Given the description of an element on the screen output the (x, y) to click on. 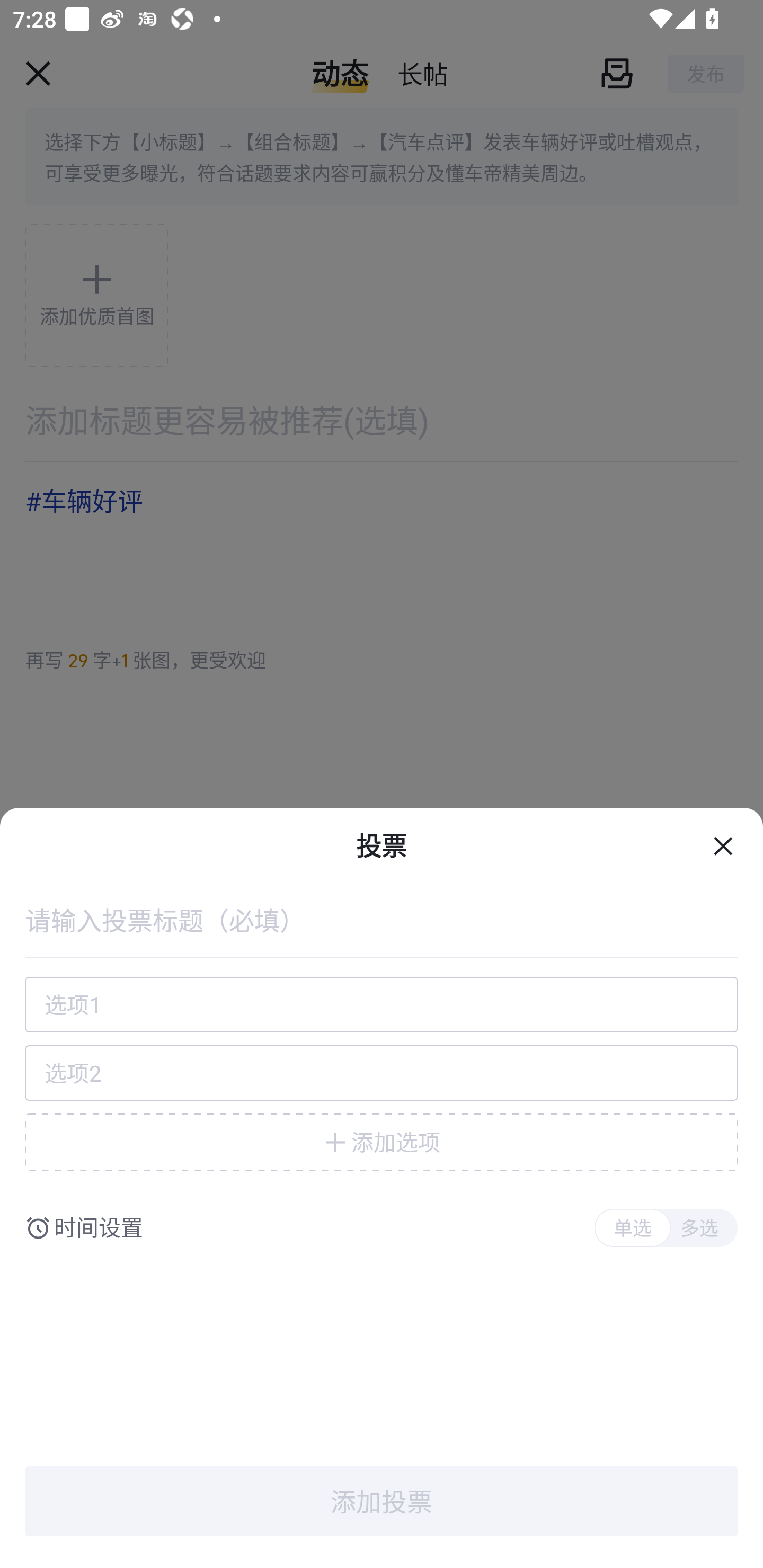
请输入投票标题（必填） (381, 920)
选项1 (381, 1003)
选项2 (381, 1072)
添加选项 (381, 1142)
单选 (632, 1227)
多选 (699, 1227)
时间设置 (98, 1227)
添加投票 (381, 1501)
